Given the description of an element on the screen output the (x, y) to click on. 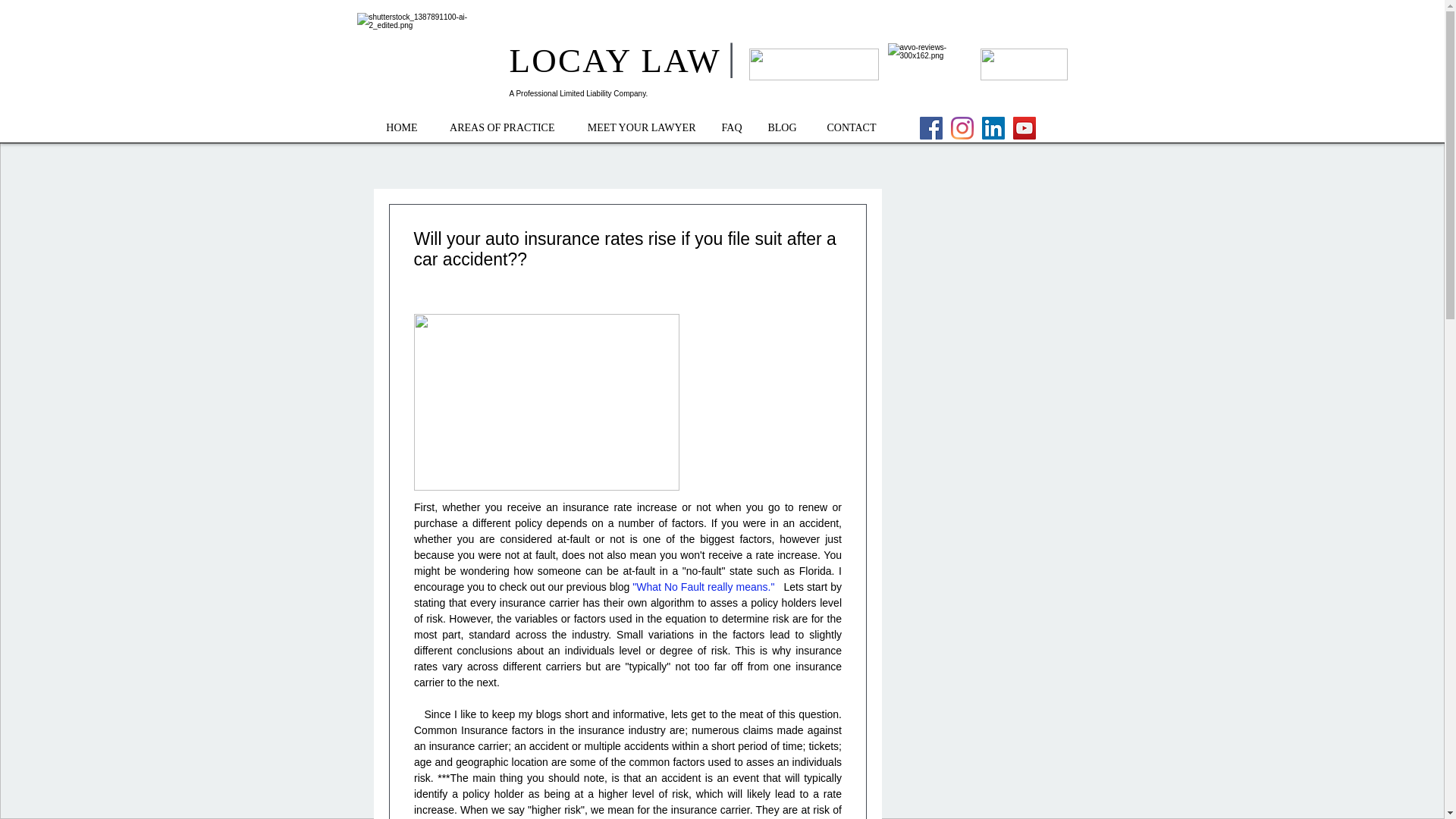
BLOG (781, 127)
AREAS OF PRACTICE (497, 127)
MEET YOUR LAWYER (636, 127)
HOME (399, 127)
CONTACT (848, 127)
FAQ (729, 127)
"What No Fault really means." (702, 586)
